Given the description of an element on the screen output the (x, y) to click on. 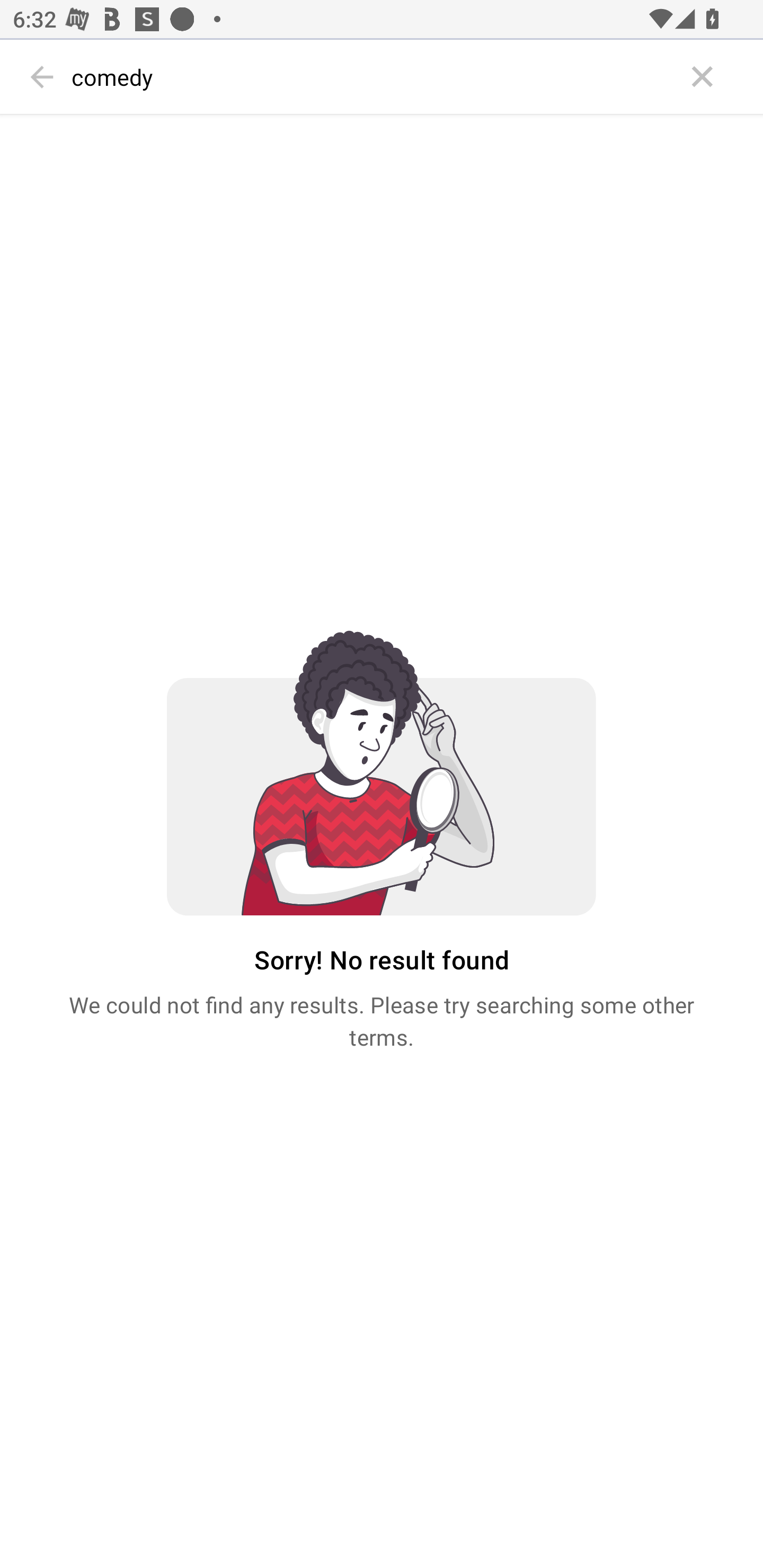
Back (42, 76)
comedy (373, 76)
Close (702, 76)
